Given the description of an element on the screen output the (x, y) to click on. 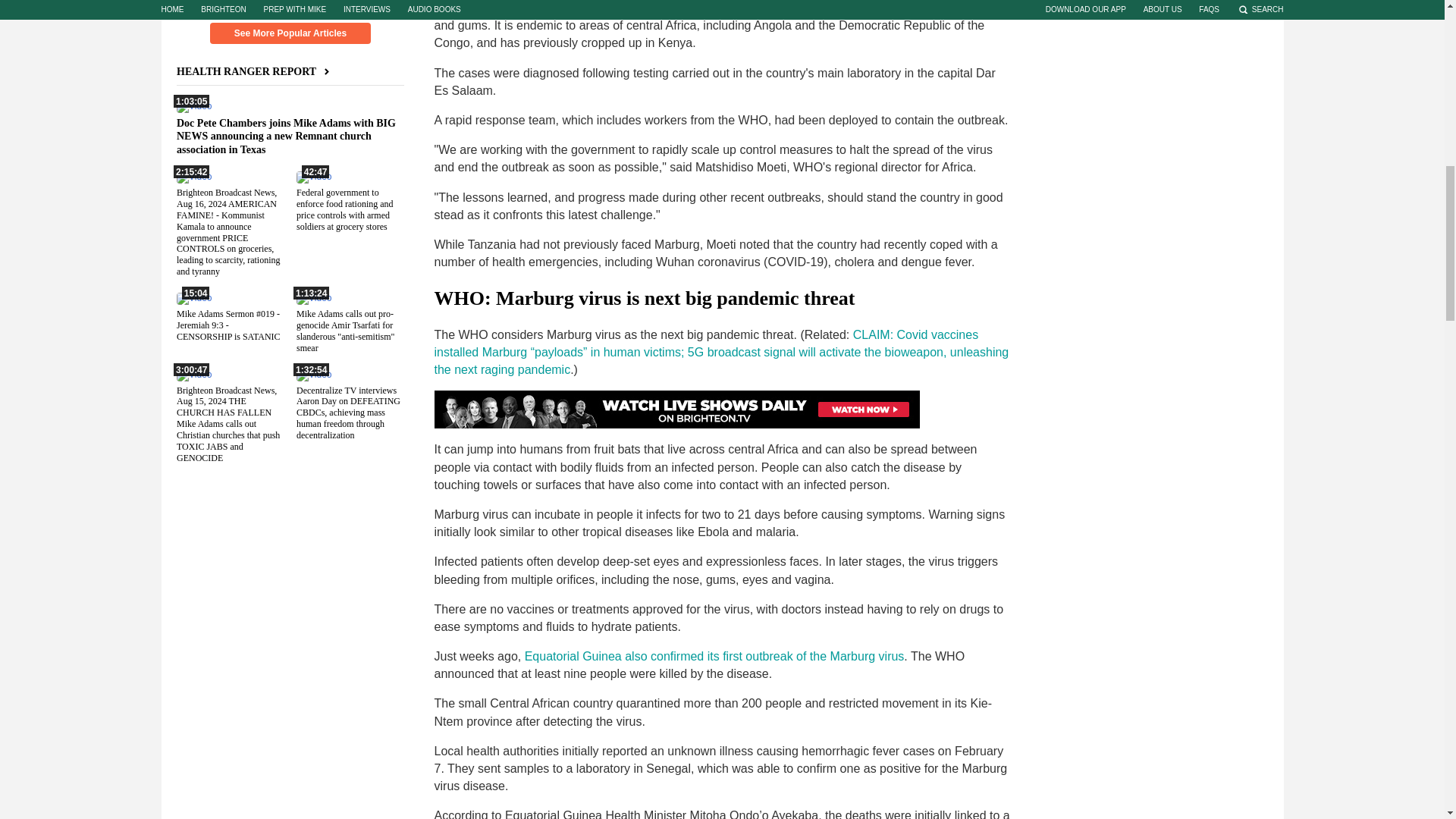
1:03:05 (193, 105)
15:04 (193, 297)
2:15:42 (193, 176)
See More Popular Articles (289, 33)
1:13:24 (312, 297)
Scroll Down (290, 6)
42:47 (312, 176)
